Given the description of an element on the screen output the (x, y) to click on. 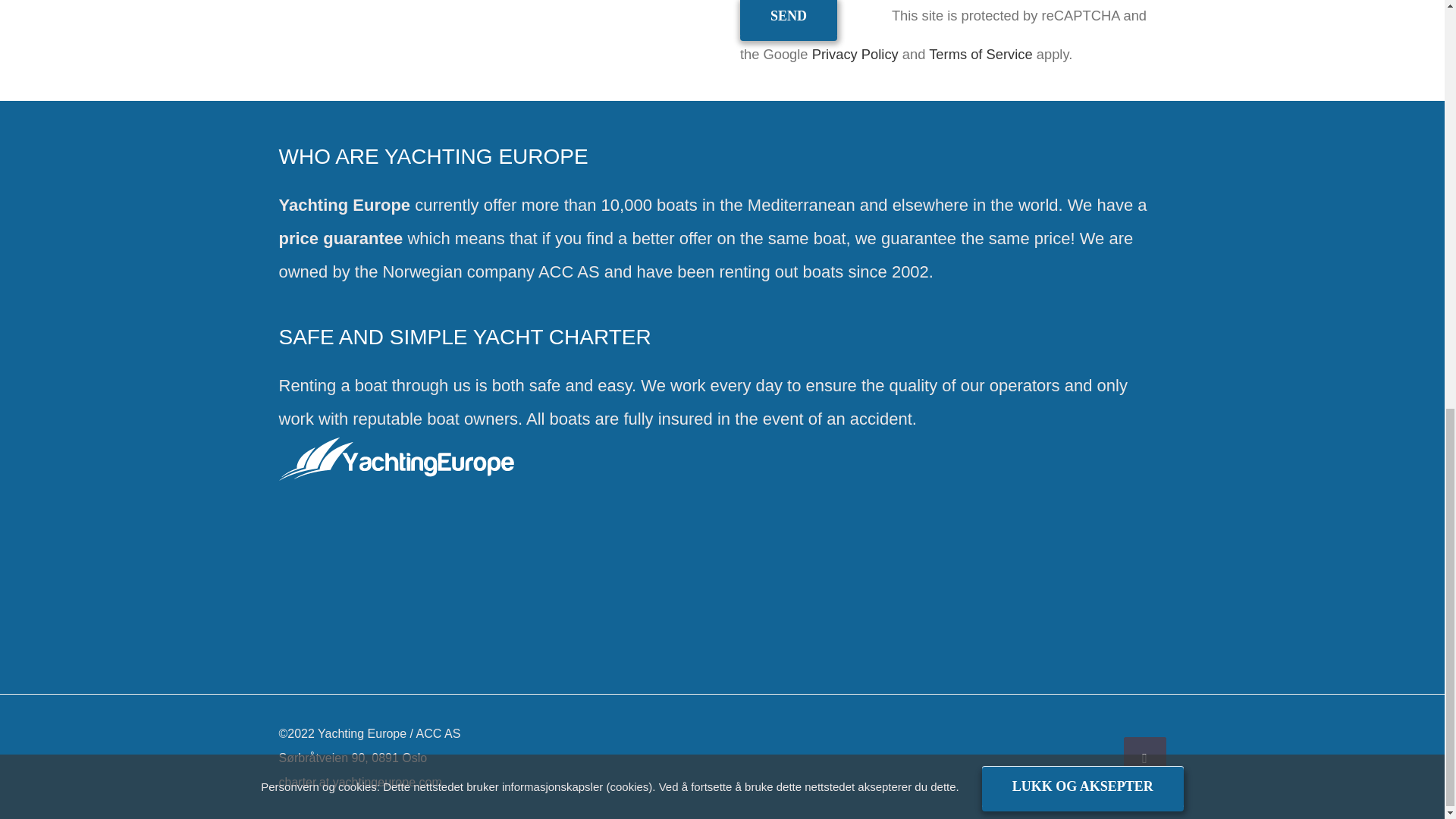
Privacy Policy (855, 53)
Send (788, 18)
Facebook (1145, 758)
Terms of Service (980, 53)
Send (788, 18)
